Given the description of an element on the screen output the (x, y) to click on. 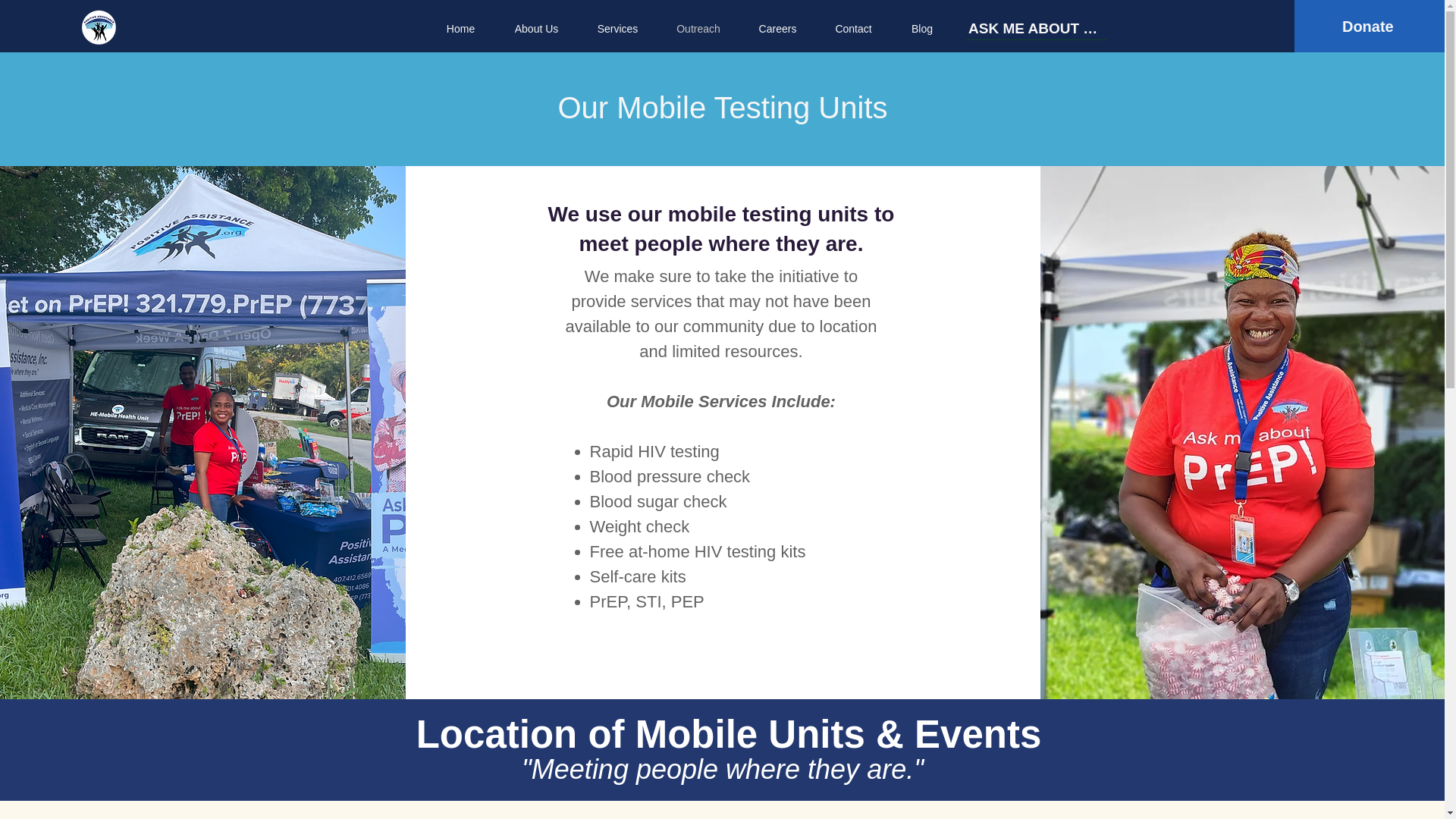
Outreach (697, 28)
Donate (1367, 26)
Blog (921, 28)
Events Calendar (724, 810)
ASK ME ABOUT PrEP (1035, 28)
About Us (536, 28)
Contact (853, 28)
Home (460, 28)
Careers (777, 28)
Services (617, 28)
